Given the description of an element on the screen output the (x, y) to click on. 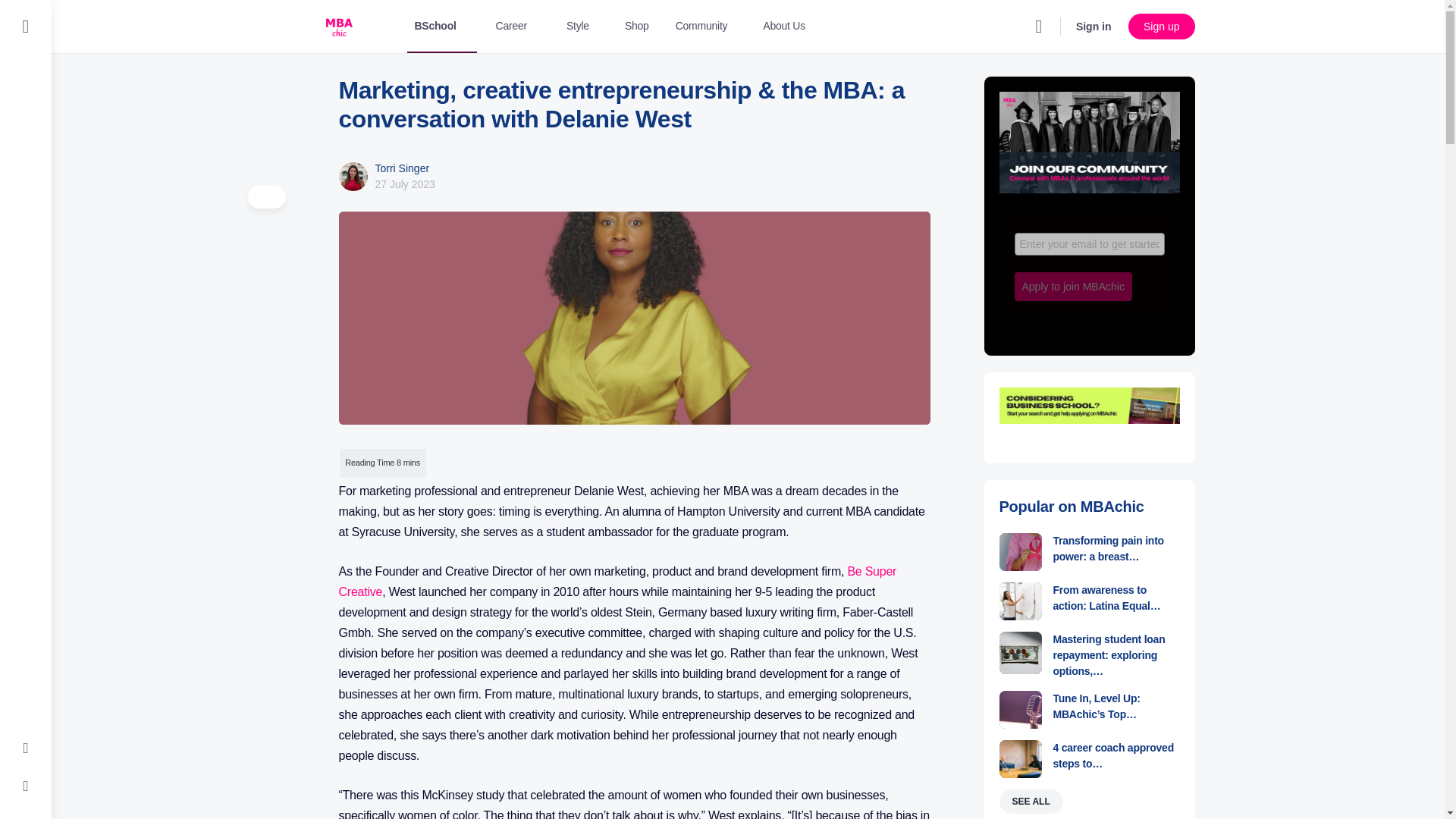
BSchool (441, 26)
Sign in (1094, 26)
Sign up (1160, 26)
Style (584, 26)
Community (708, 26)
Career (517, 26)
About Us (783, 26)
